Given the description of an element on the screen output the (x, y) to click on. 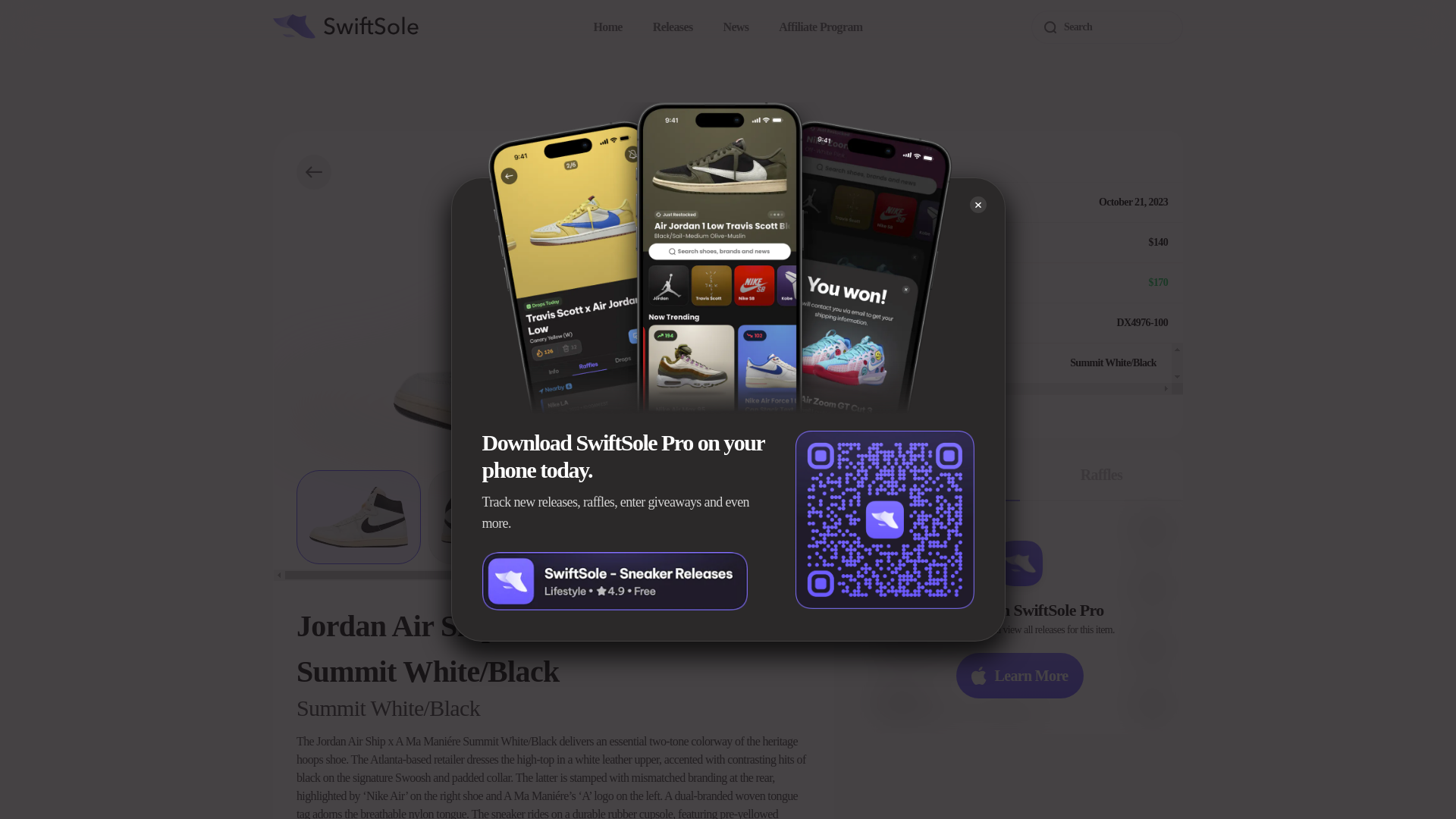
Affiliate Program (819, 26)
Drops (938, 475)
News (735, 26)
Learn More (1019, 675)
Releases (672, 26)
Raffles (1101, 475)
Search (1106, 27)
Home (608, 26)
